Given the description of an element on the screen output the (x, y) to click on. 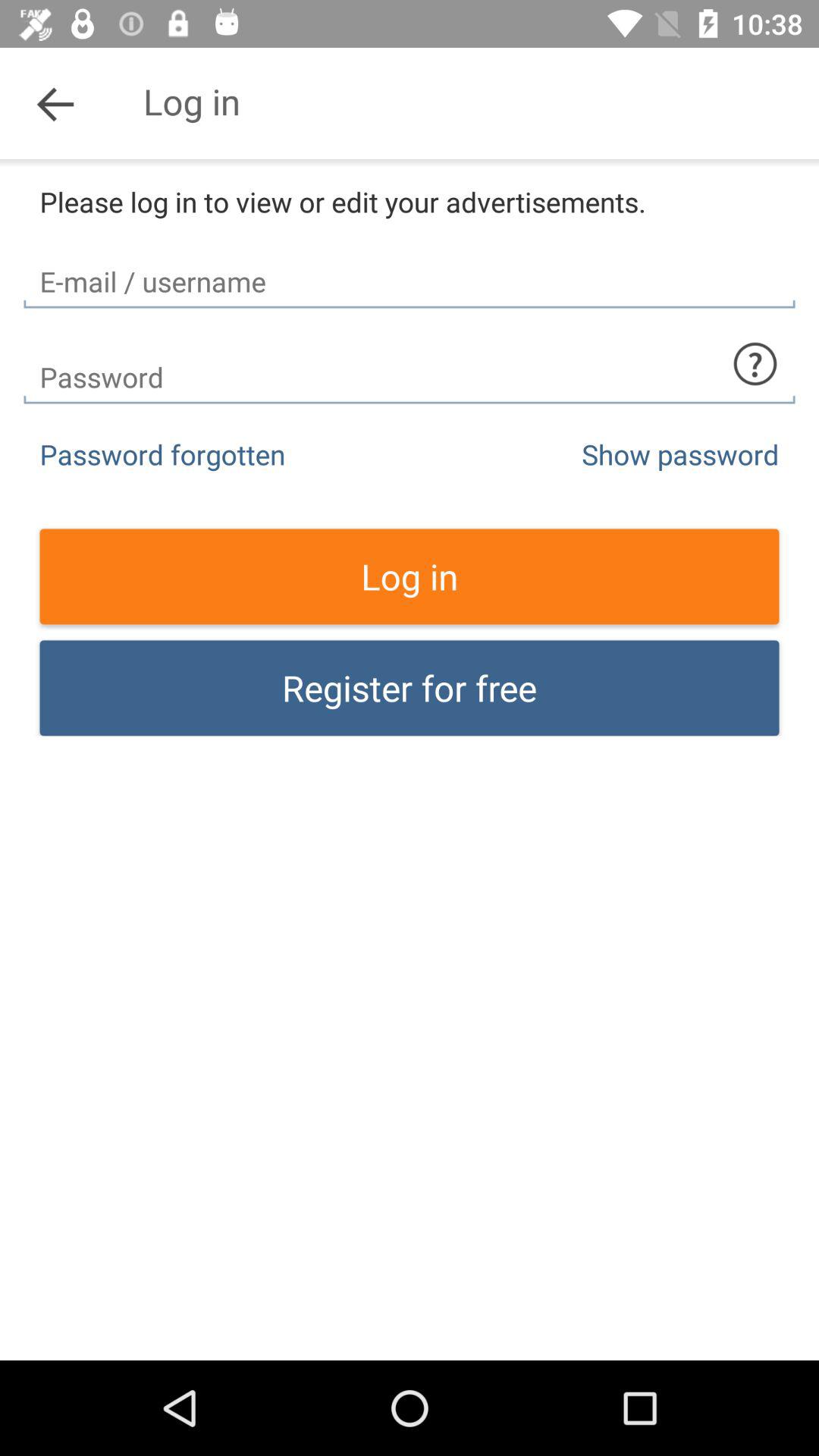
get help (755, 363)
